Given the description of an element on the screen output the (x, y) to click on. 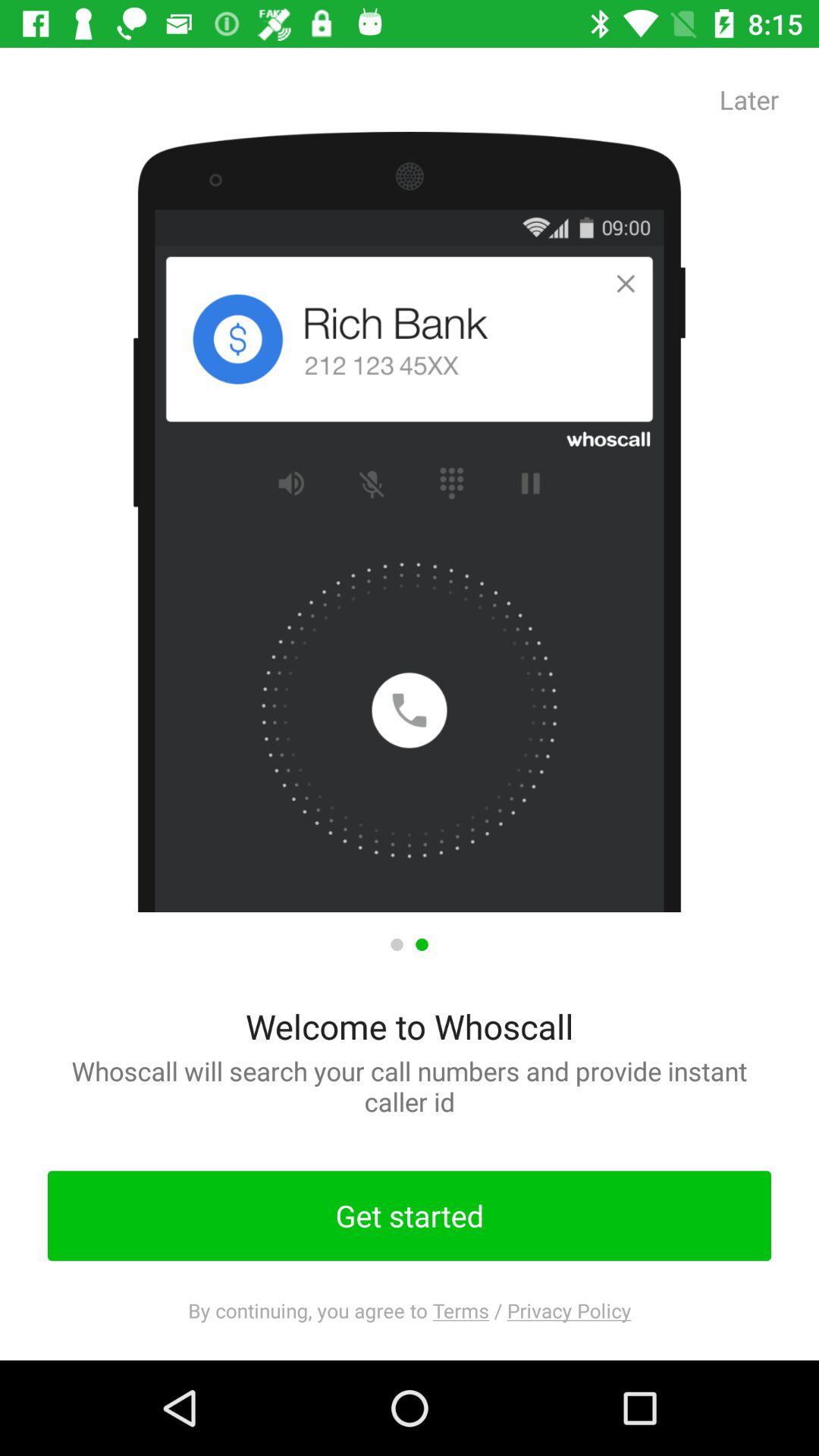
flip to later app (749, 99)
